Given the description of an element on the screen output the (x, y) to click on. 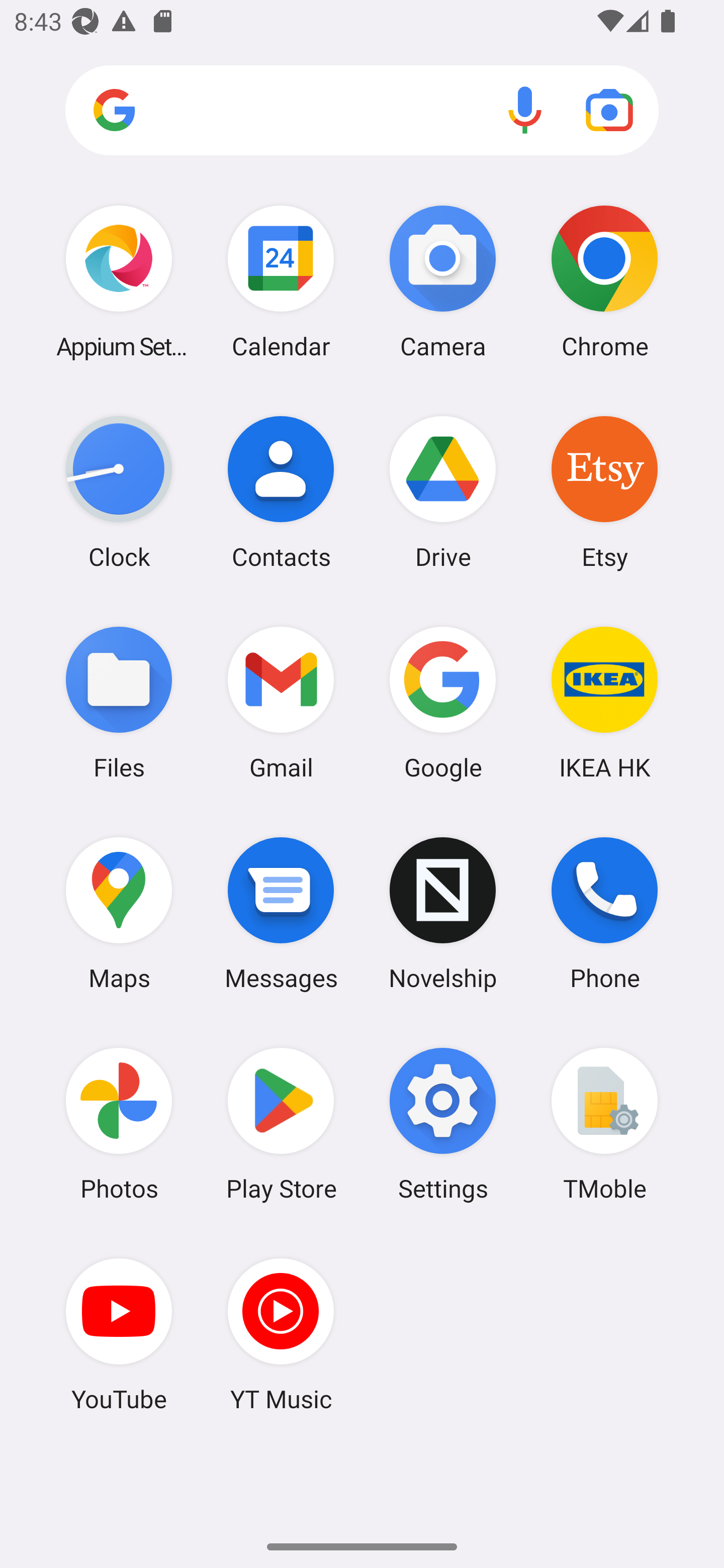
Search apps, web and more (361, 110)
Voice search (524, 109)
Google Lens (608, 109)
Appium Settings (118, 281)
Calendar (280, 281)
Camera (443, 281)
Chrome (604, 281)
Clock (118, 492)
Contacts (280, 492)
Drive (443, 492)
Etsy (604, 492)
Files (118, 702)
Gmail (280, 702)
Google (443, 702)
IKEA HK (604, 702)
Maps (118, 913)
Messages (280, 913)
Novelship (443, 913)
Phone (604, 913)
Photos (118, 1124)
Play Store (280, 1124)
Settings (443, 1124)
TMoble (604, 1124)
YouTube (118, 1334)
YT Music (280, 1334)
